Given the description of an element on the screen output the (x, y) to click on. 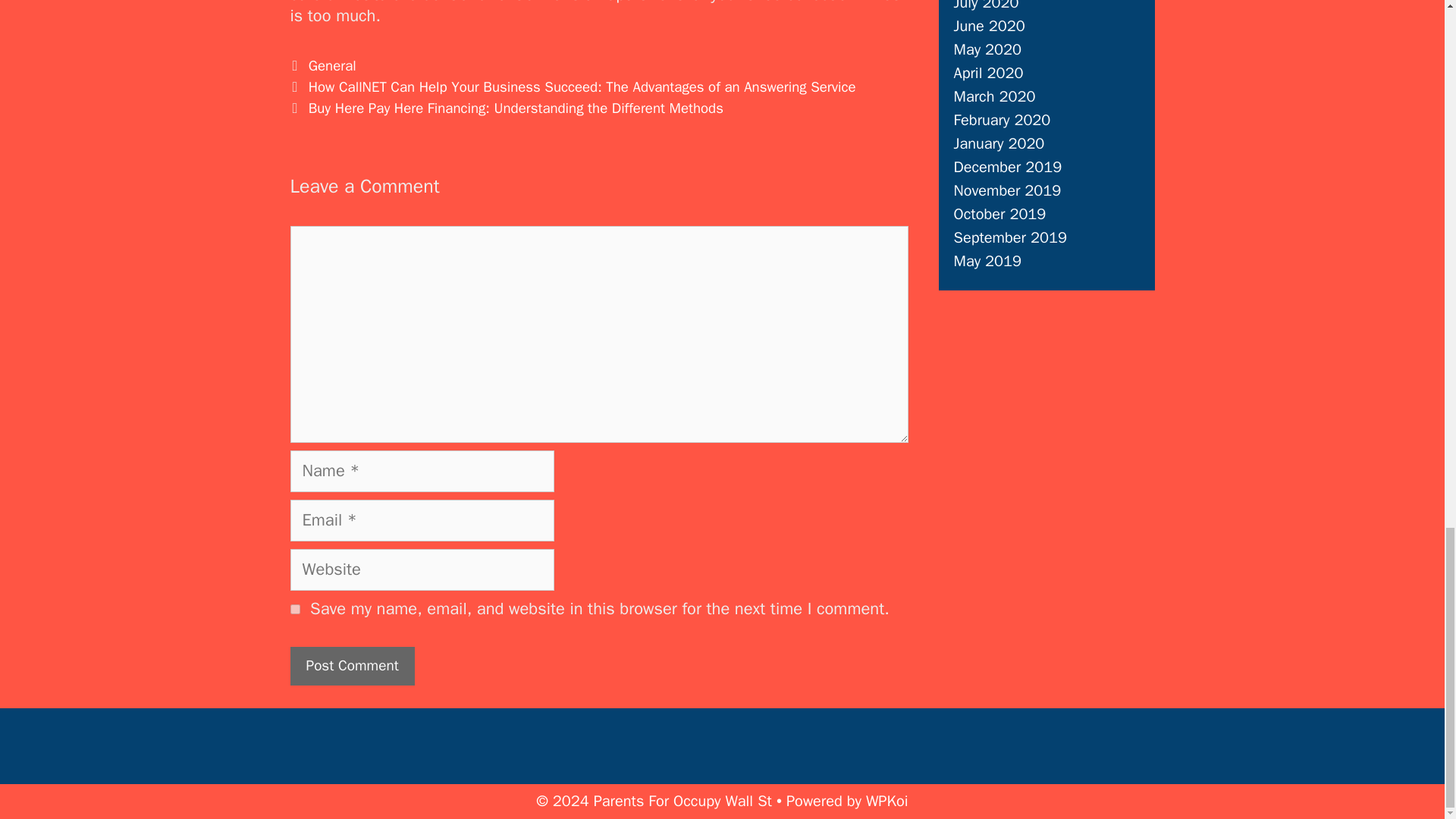
Post Comment (351, 666)
yes (294, 609)
Previous (572, 86)
Post Comment (351, 666)
Next (505, 108)
General (332, 65)
